Given the description of an element on the screen output the (x, y) to click on. 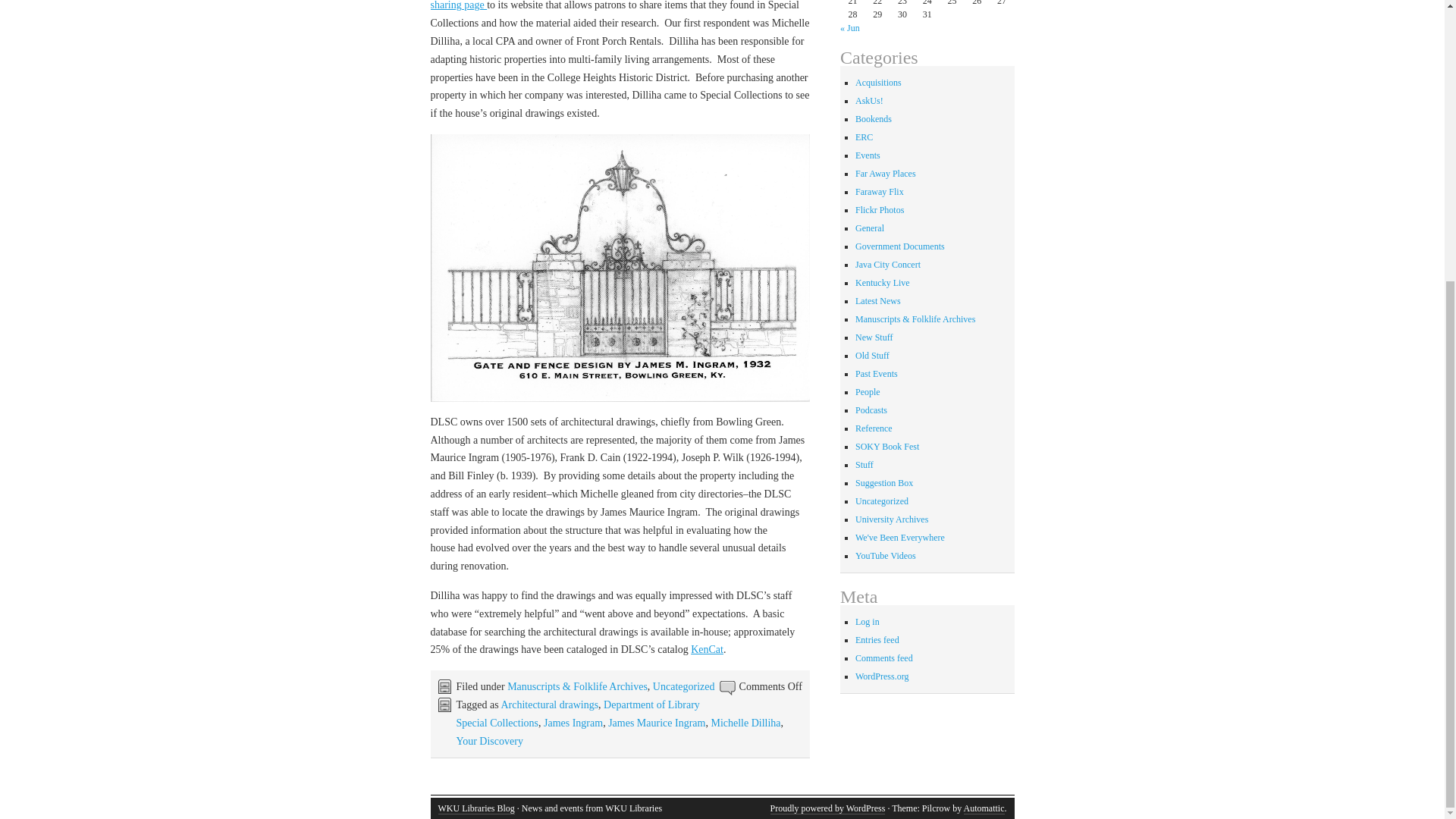
Uncategorized (683, 686)
Past Events (877, 373)
Architectural drawings (549, 704)
General (869, 227)
James Maurice Ingram (656, 722)
Java City Concert (888, 264)
Old Stuff (872, 355)
Reference (874, 428)
Latest News (878, 300)
Podcasts (871, 409)
Government Documents (900, 245)
Michelle Dilliha (745, 722)
Events (868, 154)
Bookends (873, 118)
KenCat (706, 649)
